Given the description of an element on the screen output the (x, y) to click on. 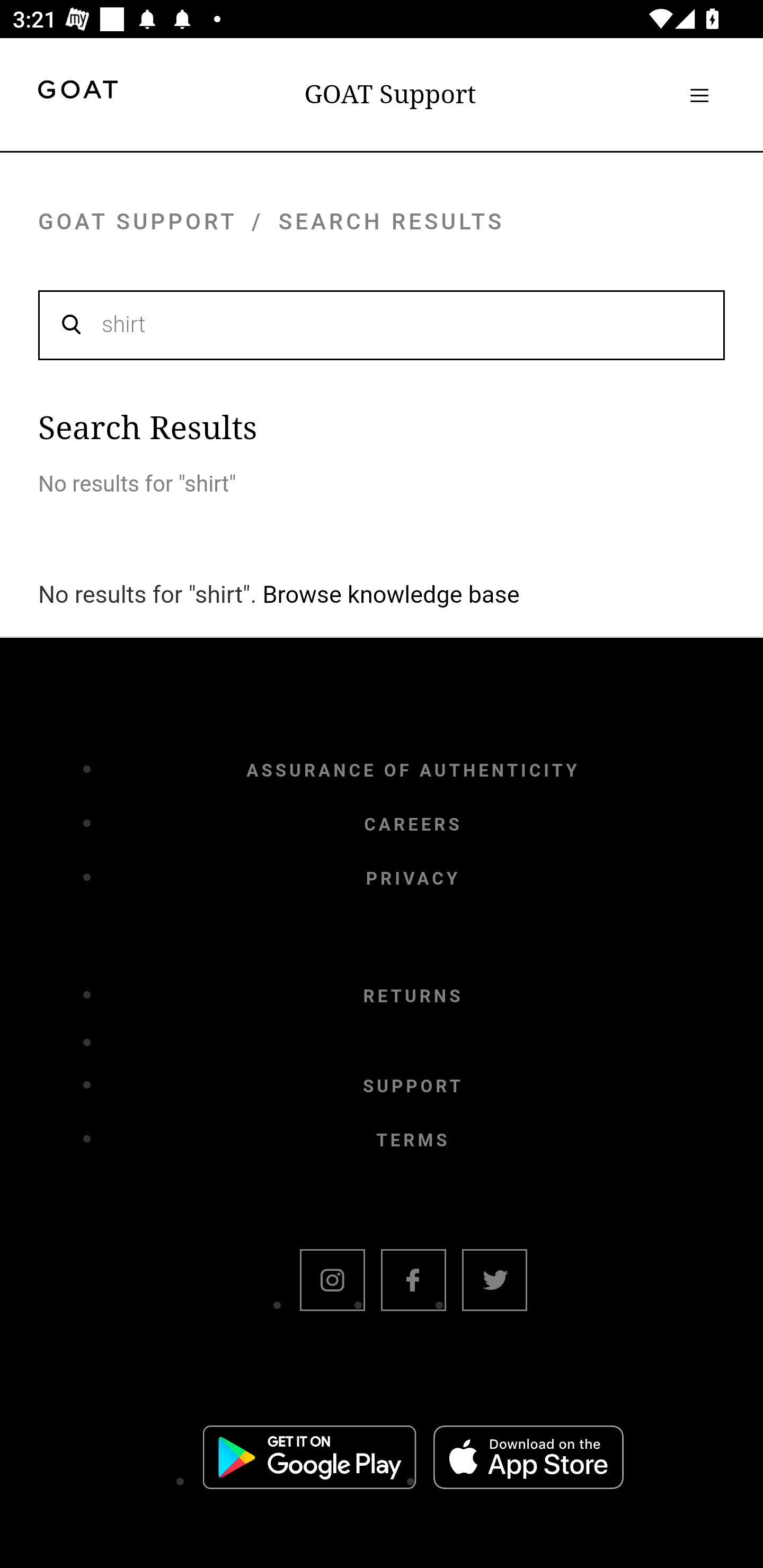
goat header logo (77, 92)
Toggle navigation menu (698, 94)
GOAT Support (389, 94)
GOAT SUPPORT (137, 221)
shirt (381, 324)
Browse knowledge base (390, 594)
ASSURANCE OF AUTHENTICITY (412, 770)
CAREERS (412, 824)
PRIVACY (412, 878)
RETURNS (412, 997)
SUPPORT (412, 1086)
TERMS (413, 1141)
instagram icon (331, 1282)
facebook icon (413, 1282)
twitter icon (494, 1282)
Google Playstore badge (309, 1460)
Apple Appstore badge (528, 1460)
